Given the description of an element on the screen output the (x, y) to click on. 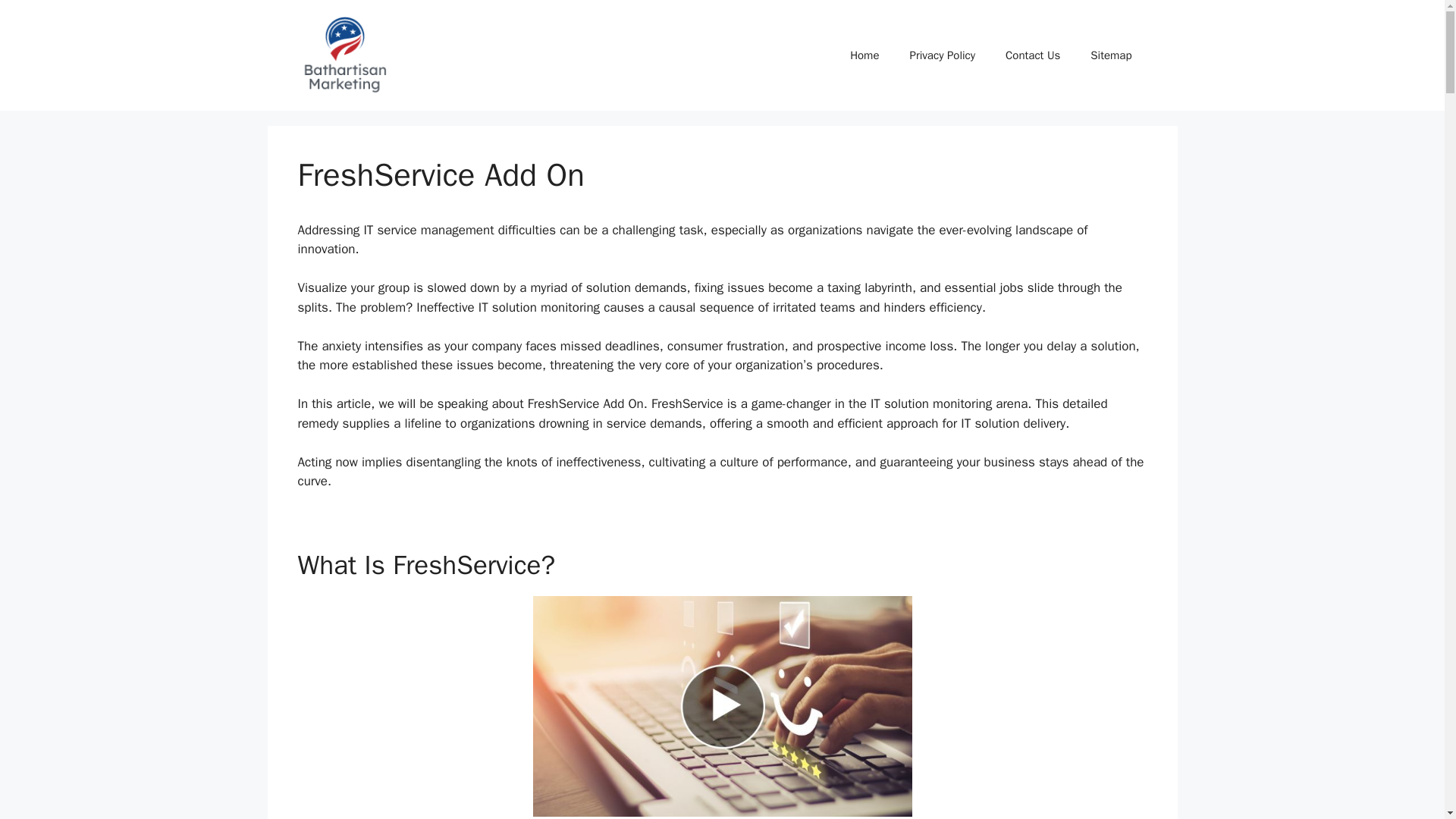
Home (863, 54)
Contact Us (1032, 54)
Sitemap (1111, 54)
Privacy Policy (941, 54)
